Given the description of an element on the screen output the (x, y) to click on. 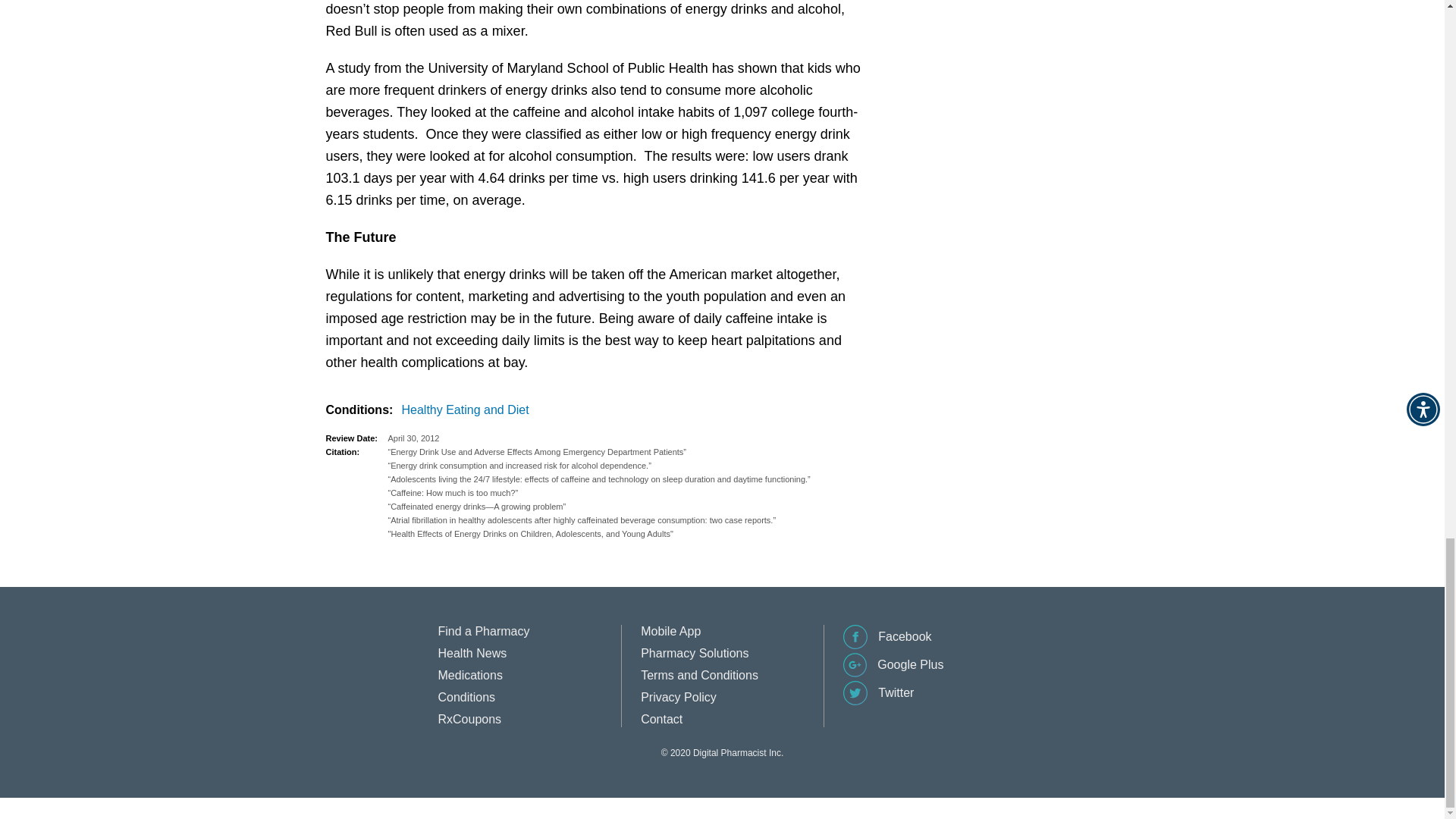
Healthy Eating and Diet (468, 410)
